Given the description of an element on the screen output the (x, y) to click on. 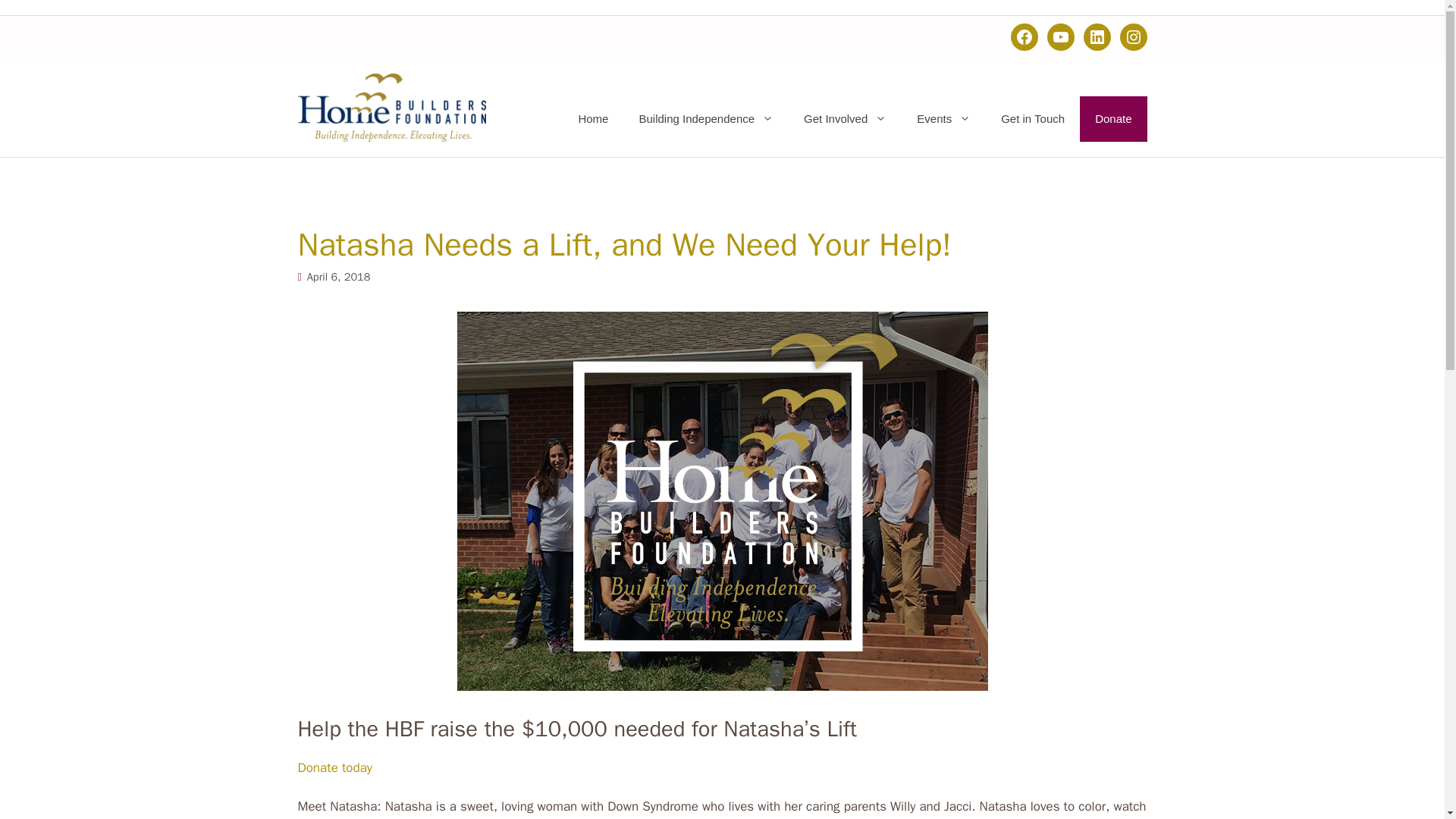
Instagram (1133, 36)
Home (592, 118)
Donate (1113, 118)
Get in Touch (1032, 118)
LinkedIn (1096, 36)
Facebook (1023, 36)
Building Independence (706, 118)
Donate today (334, 767)
Get Involved (845, 118)
YouTube (1060, 36)
